Given the description of an element on the screen output the (x, y) to click on. 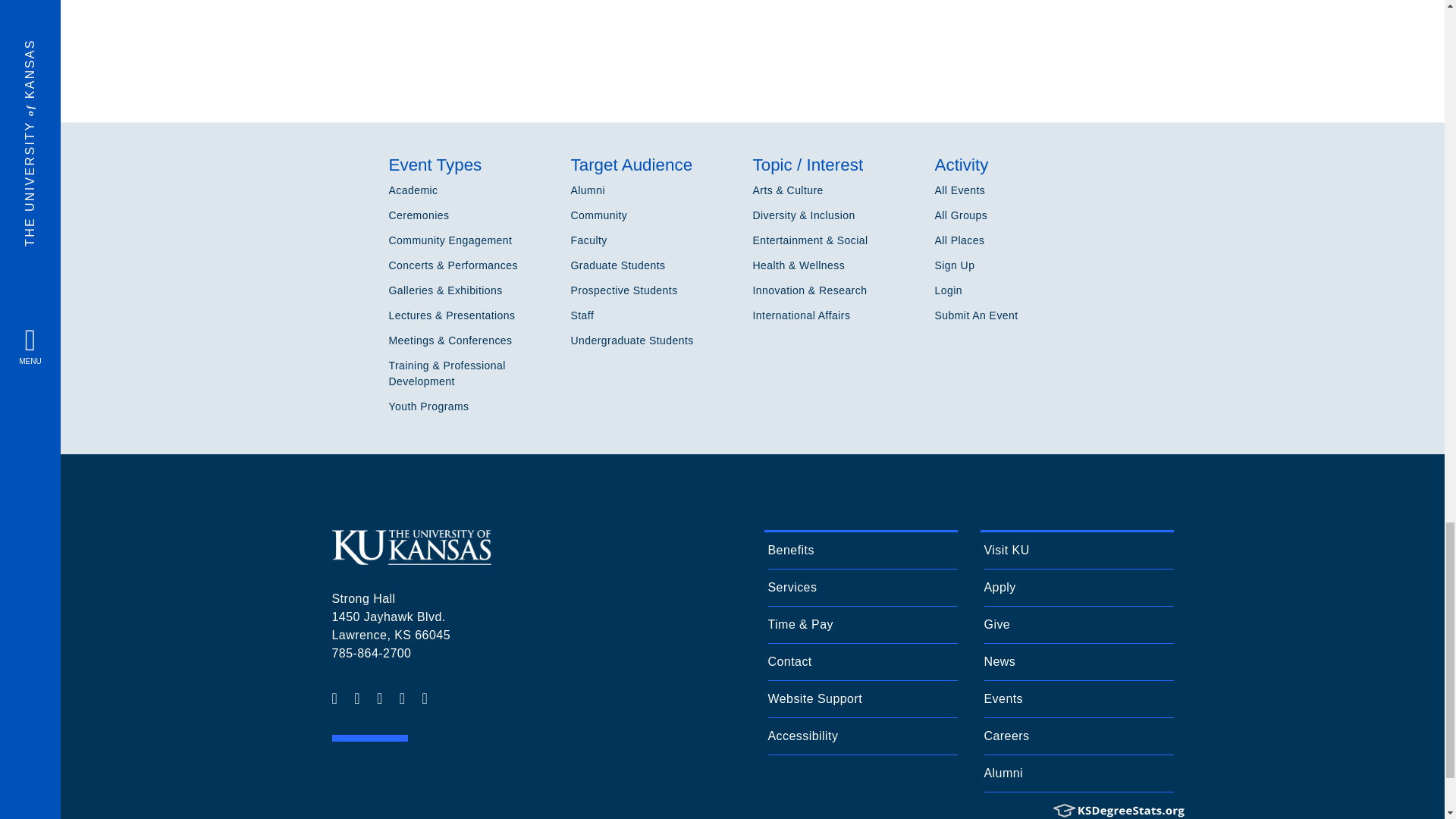
Event Location Map (752, 38)
